Given the description of an element on the screen output the (x, y) to click on. 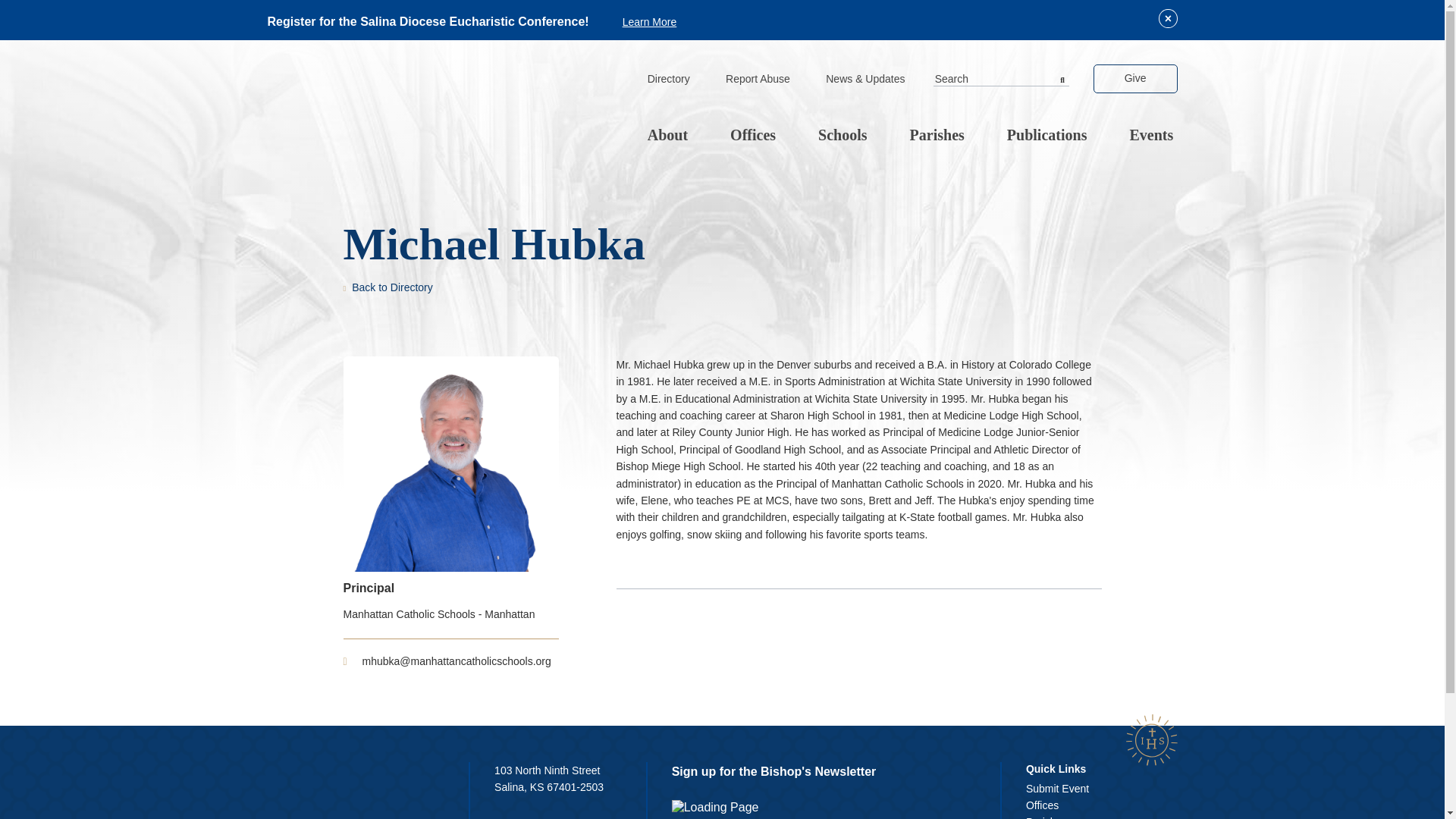
Learn More (650, 21)
Give (1135, 78)
Group 53 Copy Created with Sketch. (1150, 739)
Report Abuse (757, 79)
About (667, 135)
Offices (752, 135)
Directory (668, 79)
